Given the description of an element on the screen output the (x, y) to click on. 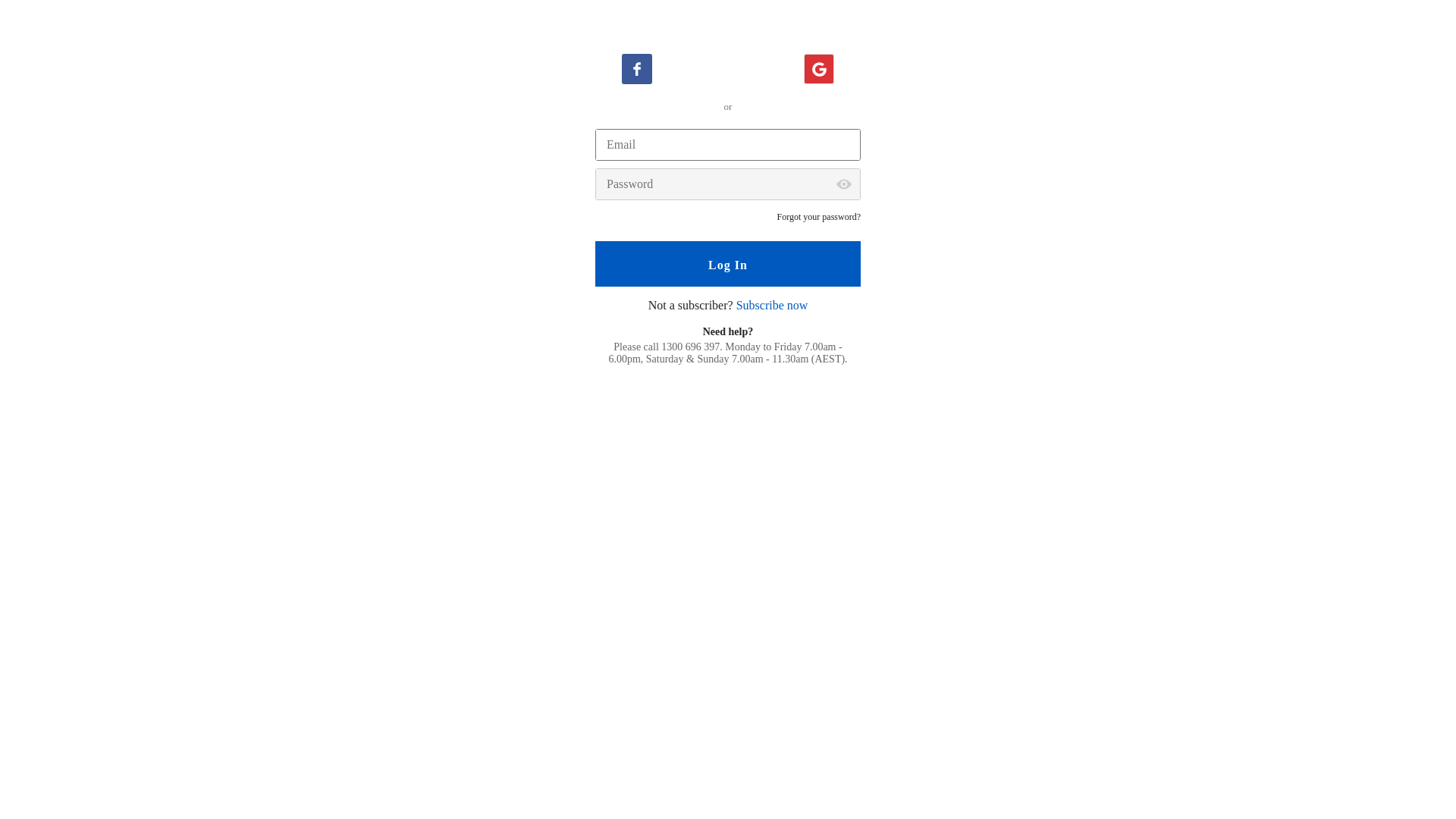
Sign in with Google Element type: text (818, 68)
Sign in with Facebook Element type: text (636, 68)
Show password Element type: hover (843, 183)
Subscribe now Element type: text (772, 304)
Log In Element type: text (727, 263)
Forgot your password? Element type: text (818, 216)
